Given the description of an element on the screen output the (x, y) to click on. 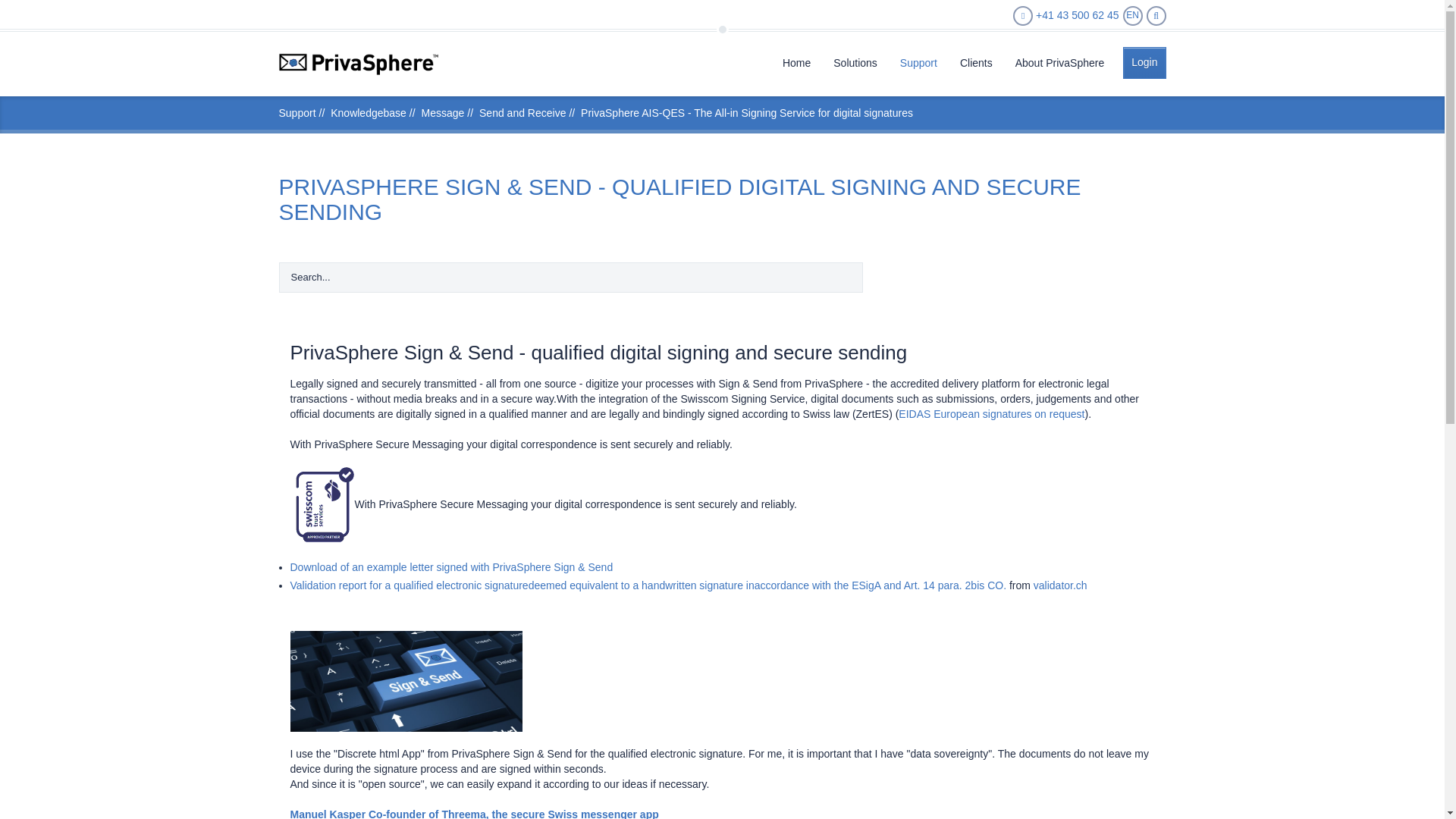
EN (1131, 15)
Opens internal link in current window (647, 585)
Opens internal link in current window (991, 413)
Solutions (855, 61)
Opens internal link in current window (1060, 585)
Home (358, 63)
Support (918, 61)
Opens internal link in current window (450, 567)
